Given the description of an element on the screen output the (x, y) to click on. 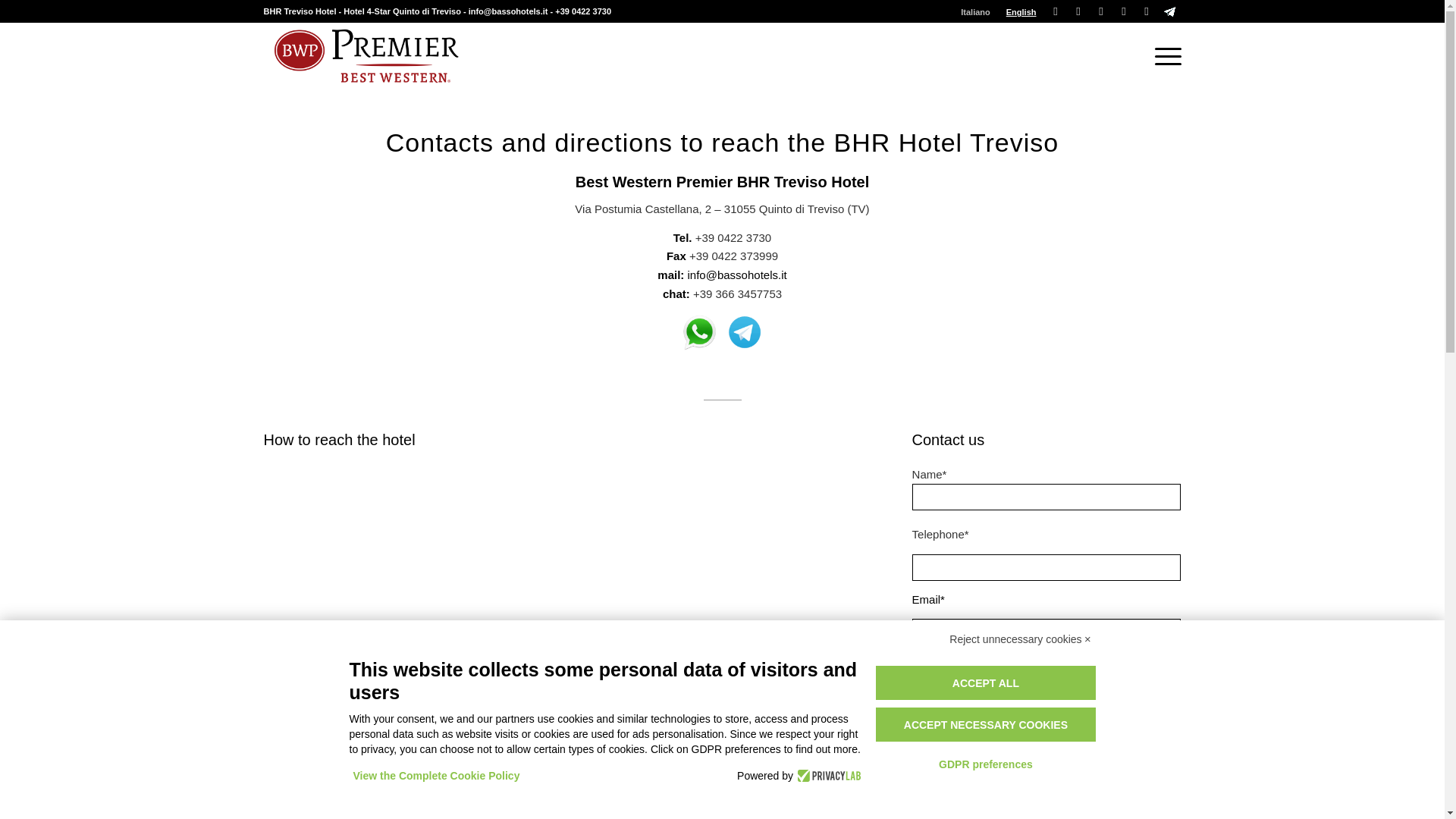
English (1021, 12)
Italiano (975, 12)
Tumblr (1169, 11)
LinkedIn (1124, 11)
Twitter (1056, 11)
WhatsApp (1146, 11)
Instagram (1101, 11)
English (1021, 12)
Facebook (1078, 11)
Italiano (975, 12)
